Given the description of an element on the screen output the (x, y) to click on. 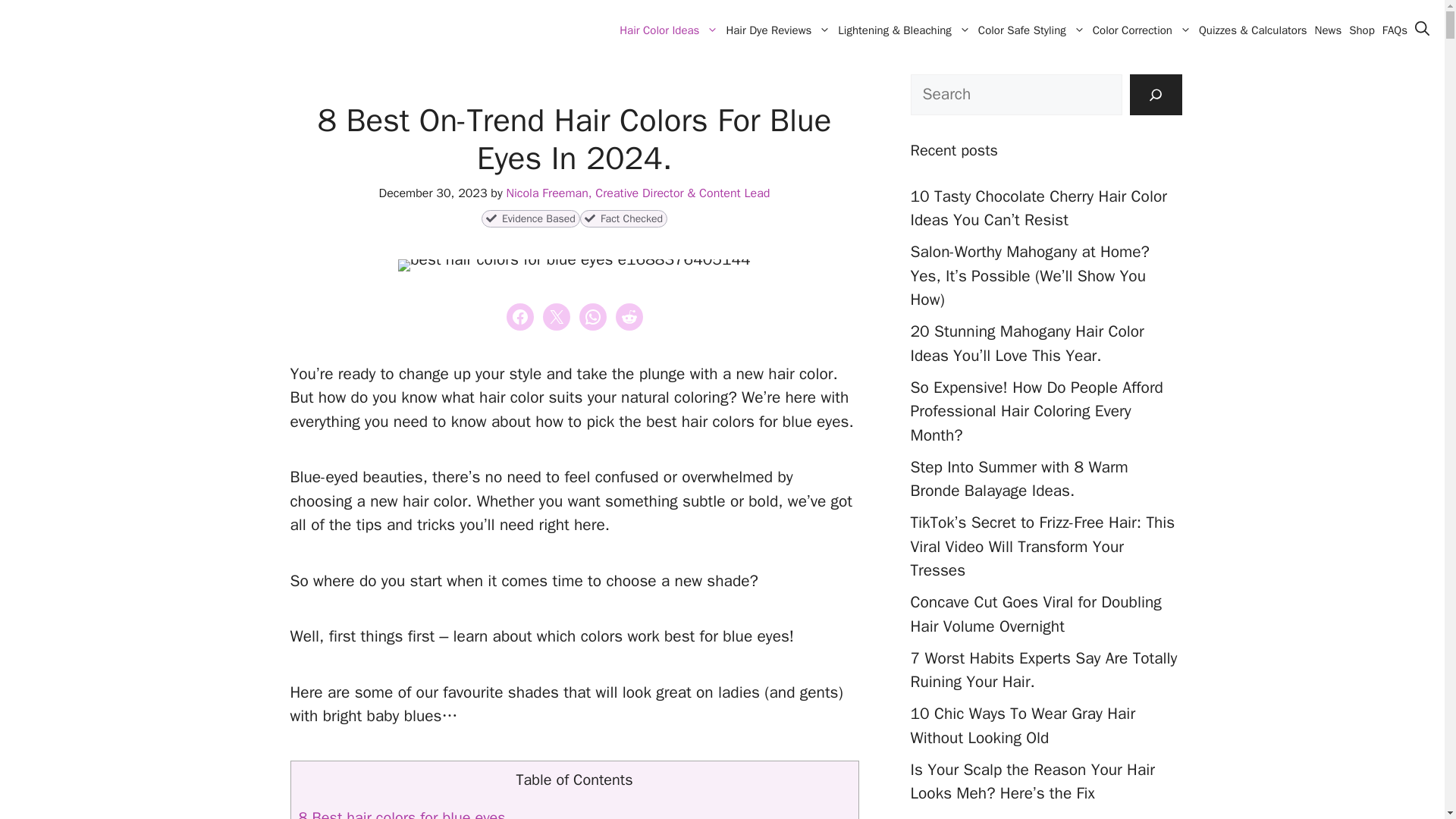
8 Best On-Trend Hair Colors For Blue Eyes In 2024. 1 (573, 265)
Colored Hair Care (61, 33)
